Given the description of an element on the screen output the (x, y) to click on. 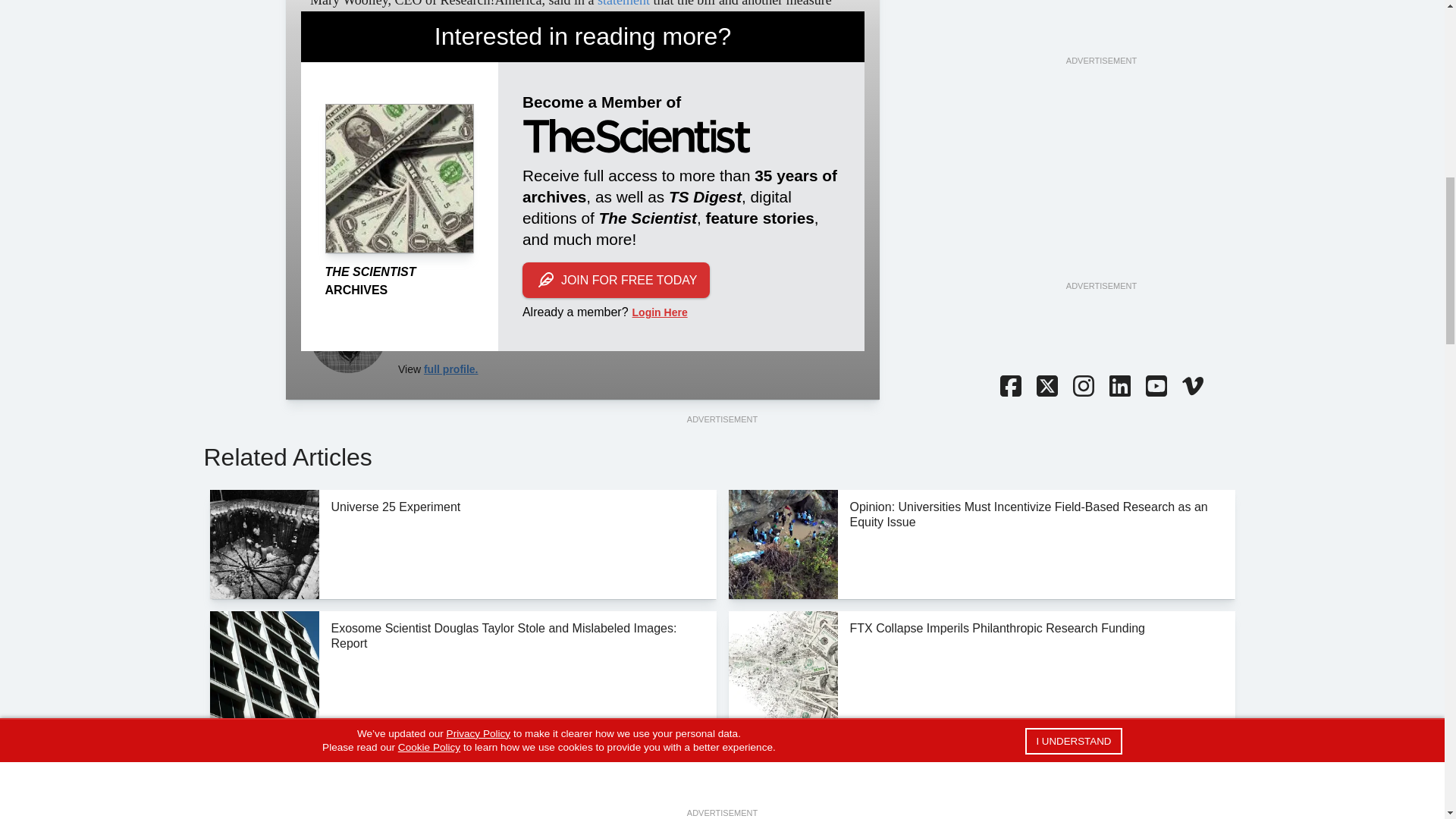
3rd party ad content (1100, 184)
Bob Grant (347, 335)
